Given the description of an element on the screen output the (x, y) to click on. 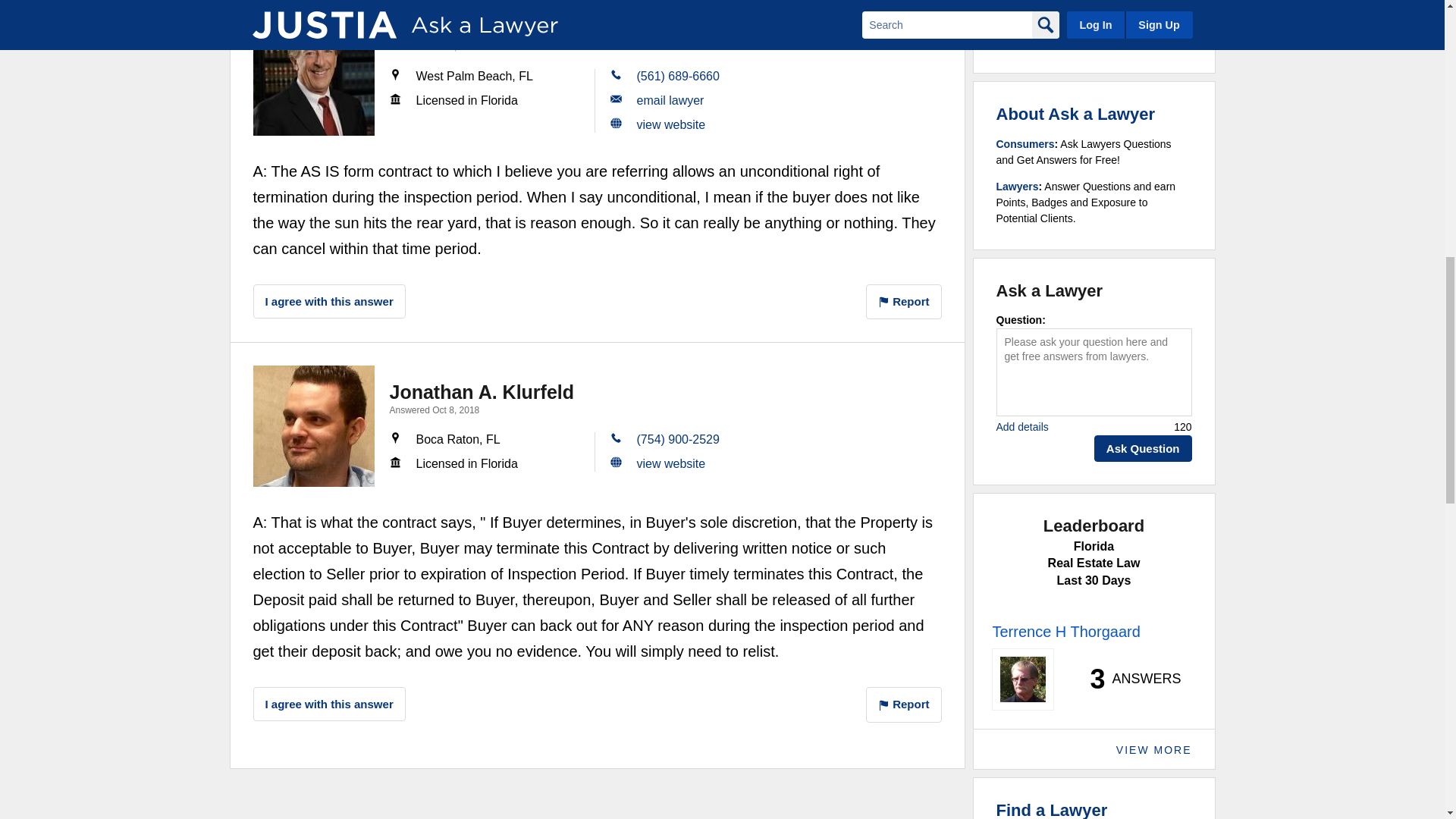
Richard Paul Zaretsky (489, 28)
I agree with this answer (329, 301)
Report (904, 302)
view website (671, 124)
Ask a Lawyer - Leaderboard - Lawyer Stats (1127, 678)
Ask a Lawyer - Leaderboard - Lawyer Name (1065, 630)
Ask a Lawyer - FAQs - Lawyers (1017, 186)
email lawyer (670, 100)
Richard Paul Zaretsky (313, 74)
Jonathan A. Klurfeld (313, 425)
Ask a Lawyer - FAQs - Consumers (1024, 143)
Ask a Lawyer - Leaderboard - Lawyer Photo (1021, 679)
